Given the description of an element on the screen output the (x, y) to click on. 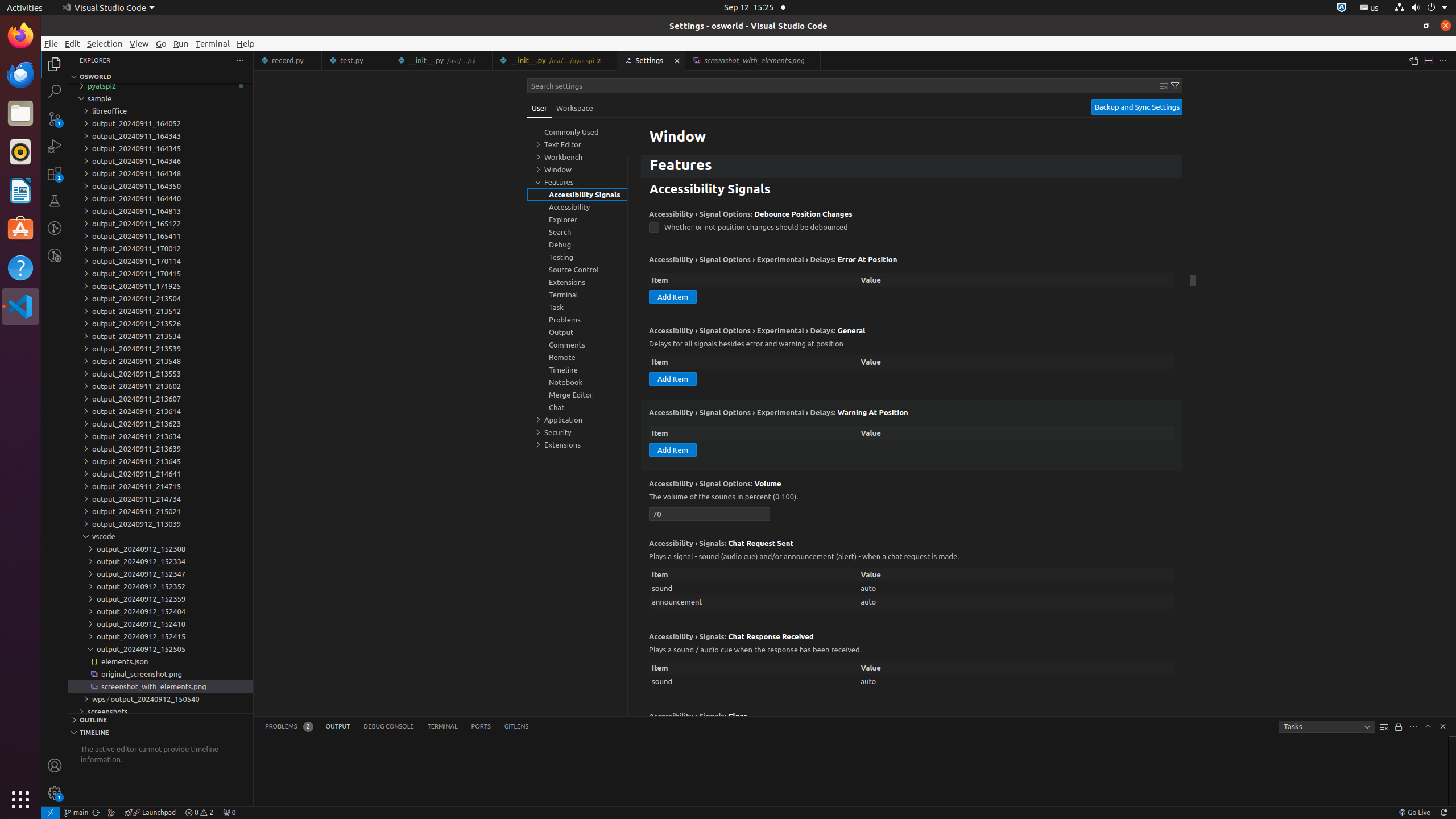
Show the GitLens Commit Graph Element type: push-button (111, 812)
Problems (Ctrl+Shift+M) - Total 2 Problems Element type: page-tab (288, 726)
on Element type: menu-item (739, 135)
OSWorld (Git) - Synchronize Changes Element type: push-button (95, 812)
screenshots Element type: tree-item (160, 711)
